Given the description of an element on the screen output the (x, y) to click on. 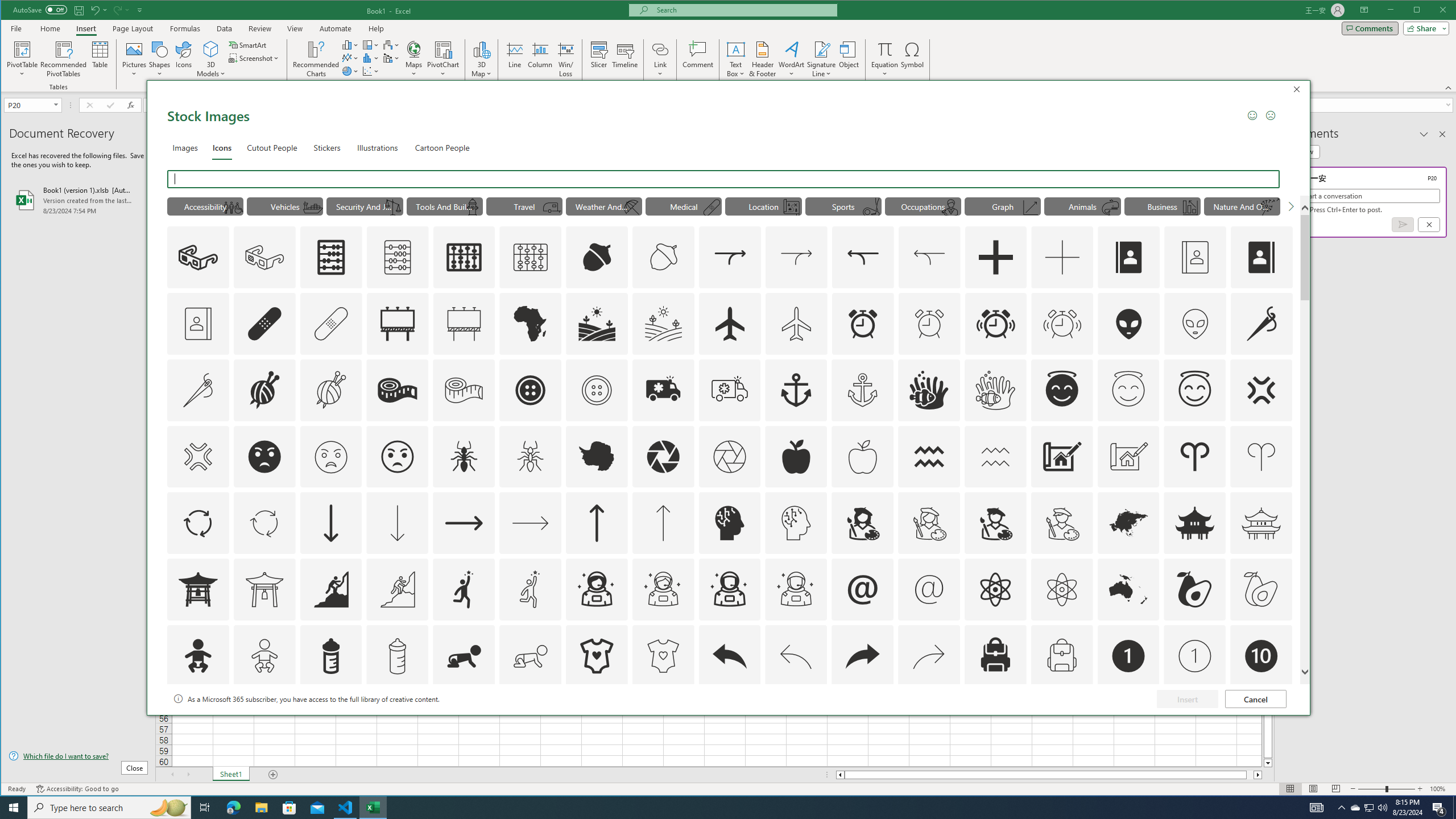
AutomationID: Icons_AlterationsTailoring3_M (596, 389)
AutomationID: Icons_At_M (928, 589)
AutomationID: Icons_Airplane_M (796, 323)
AutomationID: Icons_Trailer_M (551, 207)
AutomationID: Icons_AnemoneAndClownfish (928, 389)
Running applications (717, 807)
AutomationID: Icons_AstronautFemale (596, 589)
Maps (413, 59)
Start (13, 807)
